Given the description of an element on the screen output the (x, y) to click on. 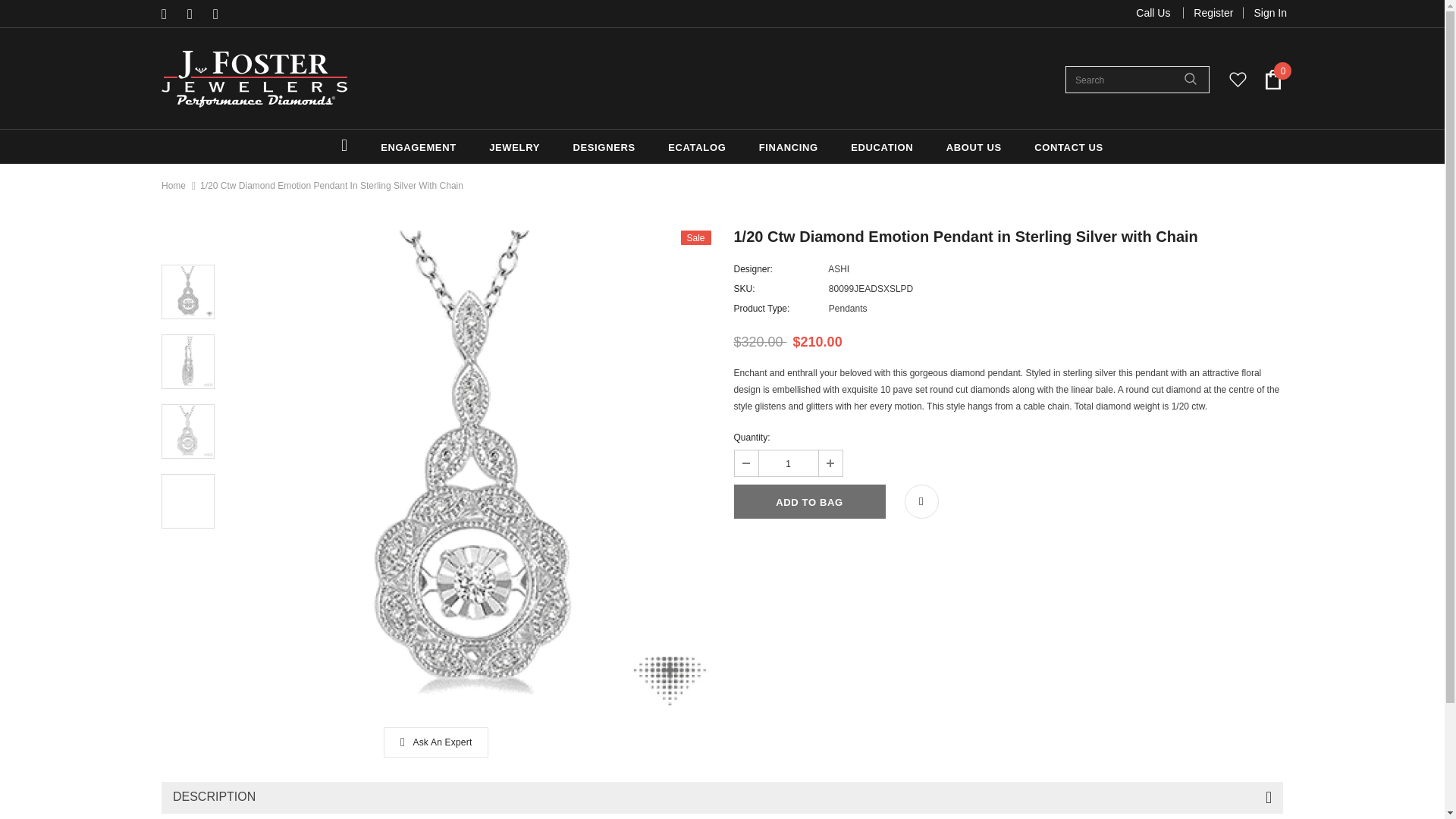
CONTACT US (1068, 146)
Add to Bag (809, 501)
Instagram (221, 14)
DESIGNERS (603, 146)
0 (1272, 79)
1 (787, 462)
ECATALOG (696, 146)
Sign In (1265, 12)
JEWELRY (514, 146)
Facebook (170, 14)
